Given the description of an element on the screen output the (x, y) to click on. 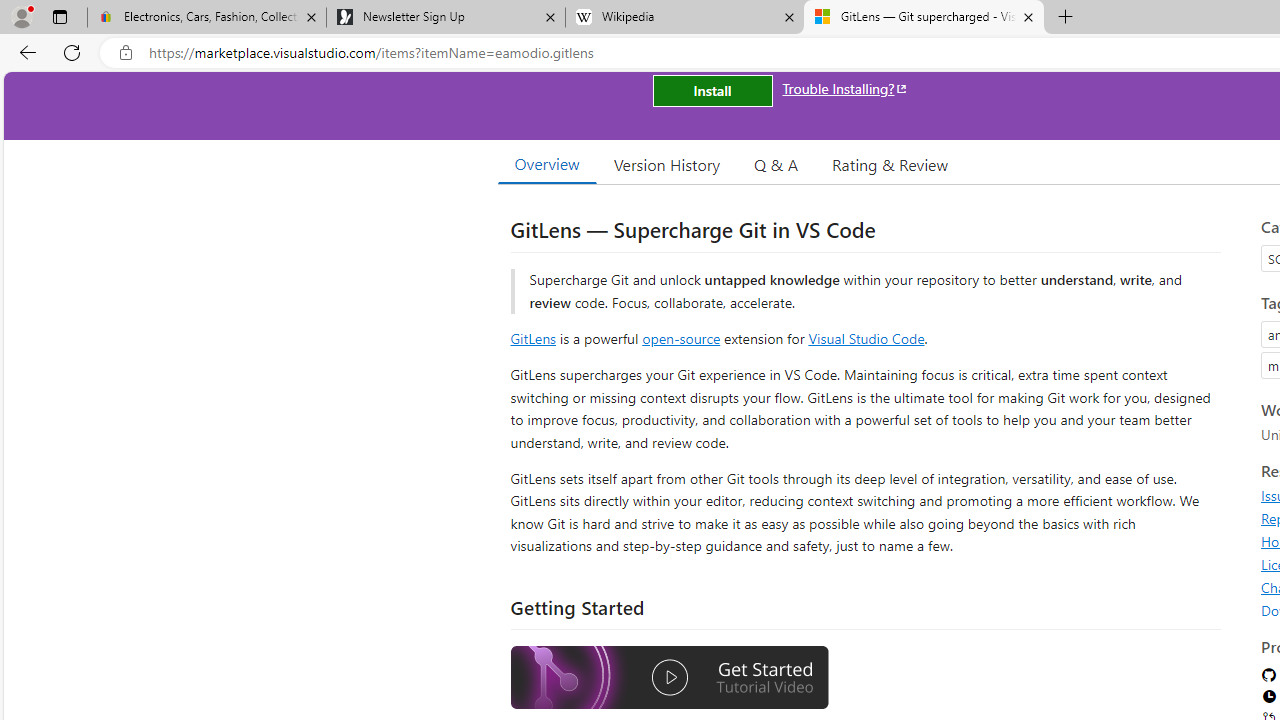
Newsletter Sign Up (445, 17)
GitLens (532, 337)
Visual Studio Code (866, 337)
Install (712, 90)
